Given the description of an element on the screen output the (x, y) to click on. 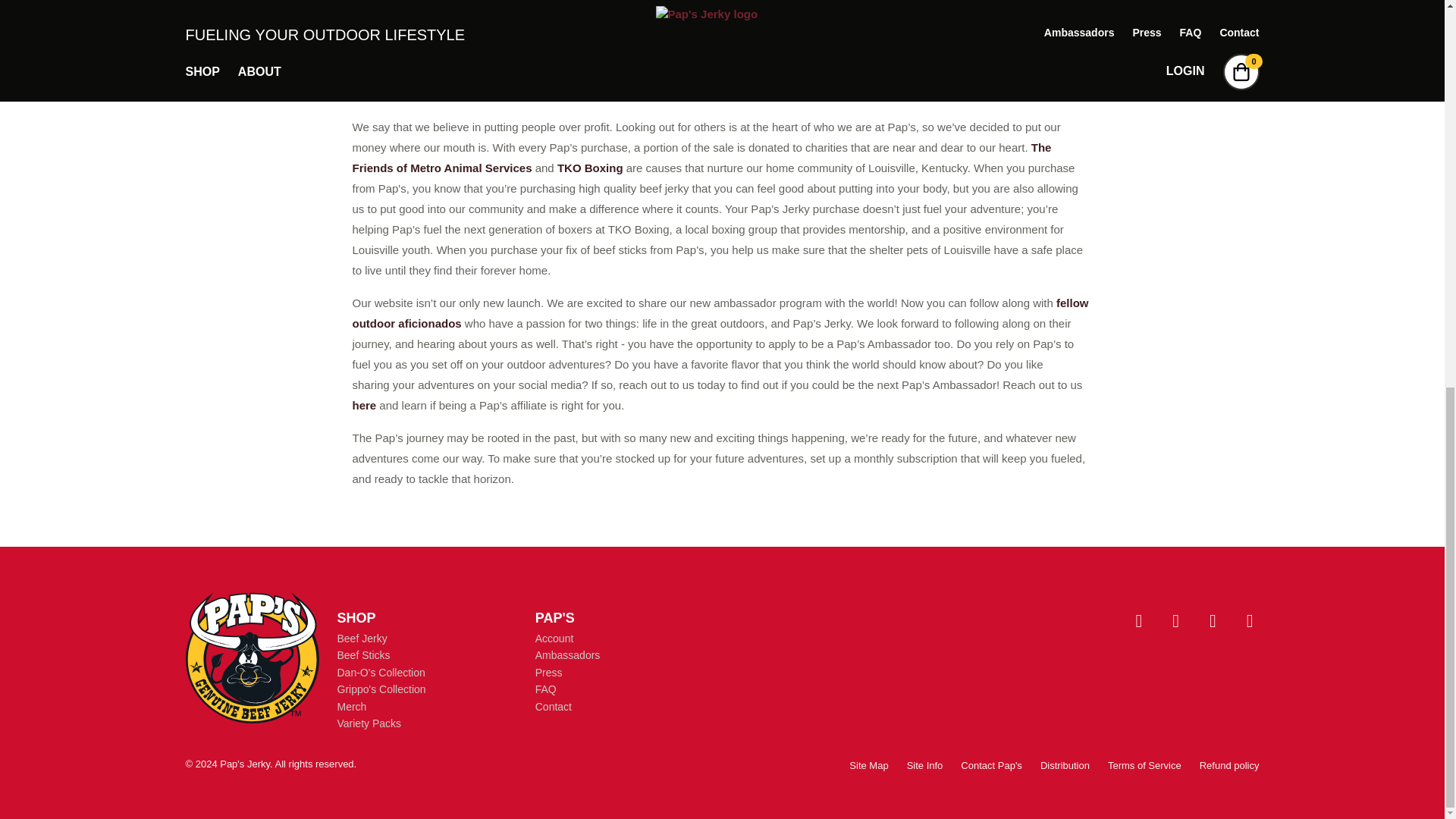
PAP'S (555, 617)
fellow outdoor aficionados (719, 313)
Grippo's Beef Jerky (983, 73)
SHOP (355, 617)
TKO Boxing Louisville (590, 167)
Merch (351, 706)
Site Map (868, 765)
Account (554, 638)
Contact (553, 706)
Friends of Metro Animal Services Louisville (701, 157)
Grippo's Collection (380, 689)
Press (548, 672)
Dan-O's Collection (380, 672)
Beef Sticks (363, 654)
Beef Jerky (361, 638)
